Given the description of an element on the screen output the (x, y) to click on. 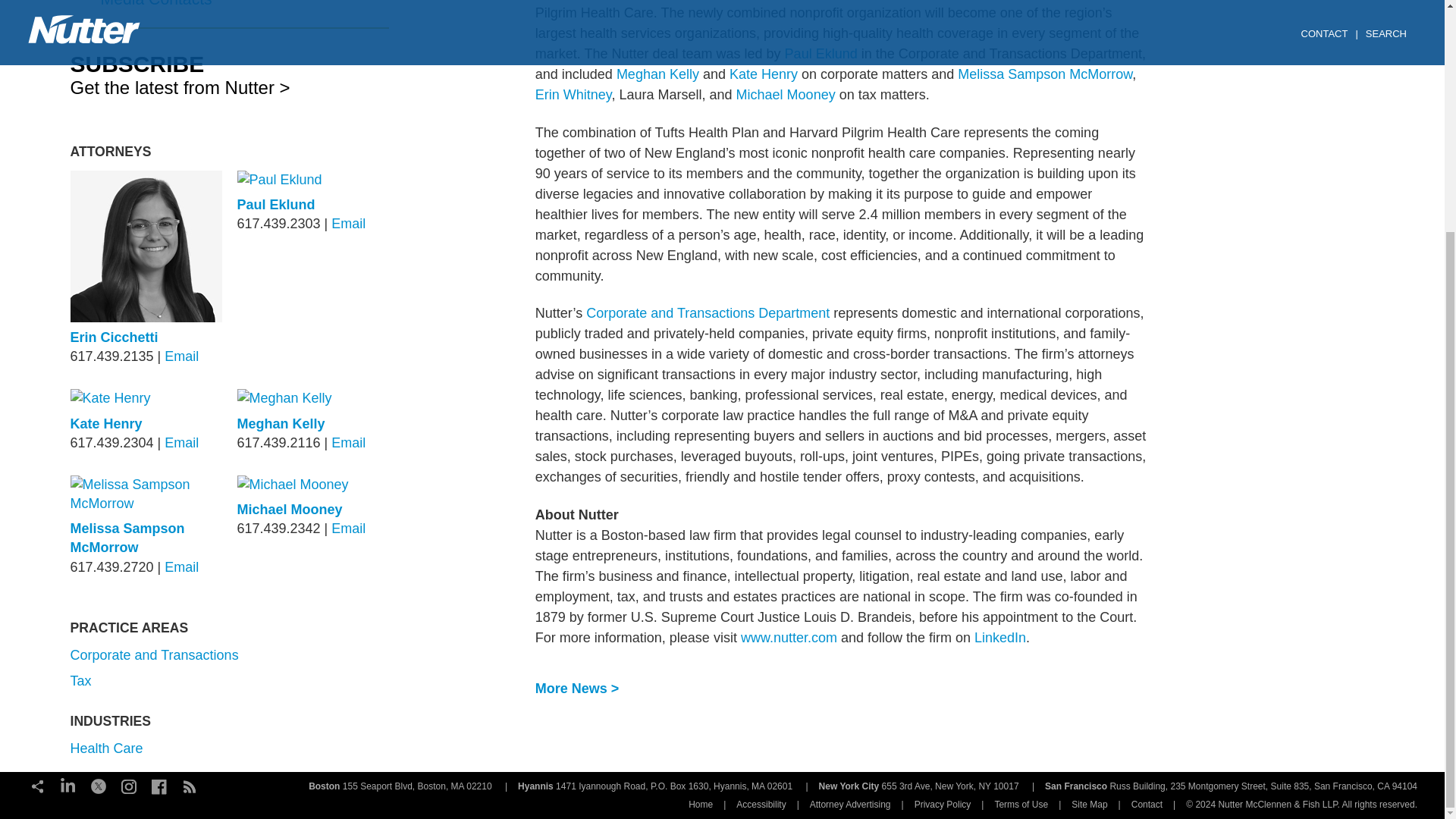
Corporate and Transactions Department (707, 313)
www.nutter.com (789, 637)
Erin Cicchetti (113, 337)
Instagram (128, 784)
LinkedIn (68, 784)
Kate Henry (763, 73)
Melissa Sampson McMorrow (1045, 73)
LinkedIn (1000, 637)
Share (37, 784)
RSS (189, 784)
